Given the description of an element on the screen output the (x, y) to click on. 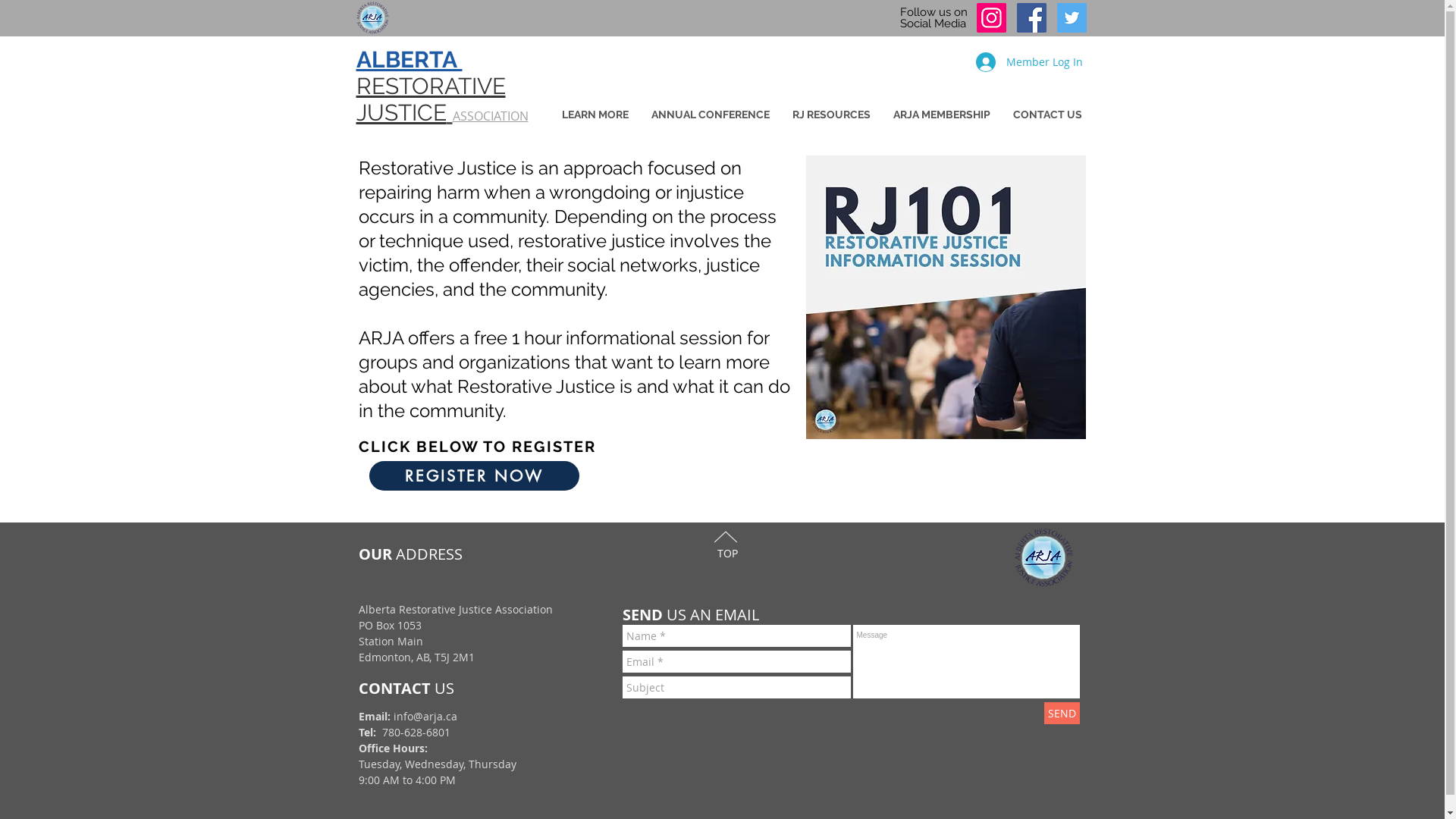
TOP Element type: text (727, 553)
ALBERTA 
RESTORATIVE JUSTICE ASSOCIATION Element type: text (442, 85)
CONTACT US Element type: text (1046, 114)
Member Log In Element type: text (1028, 61)
RJ RESOURCES Element type: text (831, 114)
info@arja.ca Element type: text (424, 716)
REGISTER NOW Element type: text (473, 475)
SEND Element type: text (1061, 713)
